Given the description of an element on the screen output the (x, y) to click on. 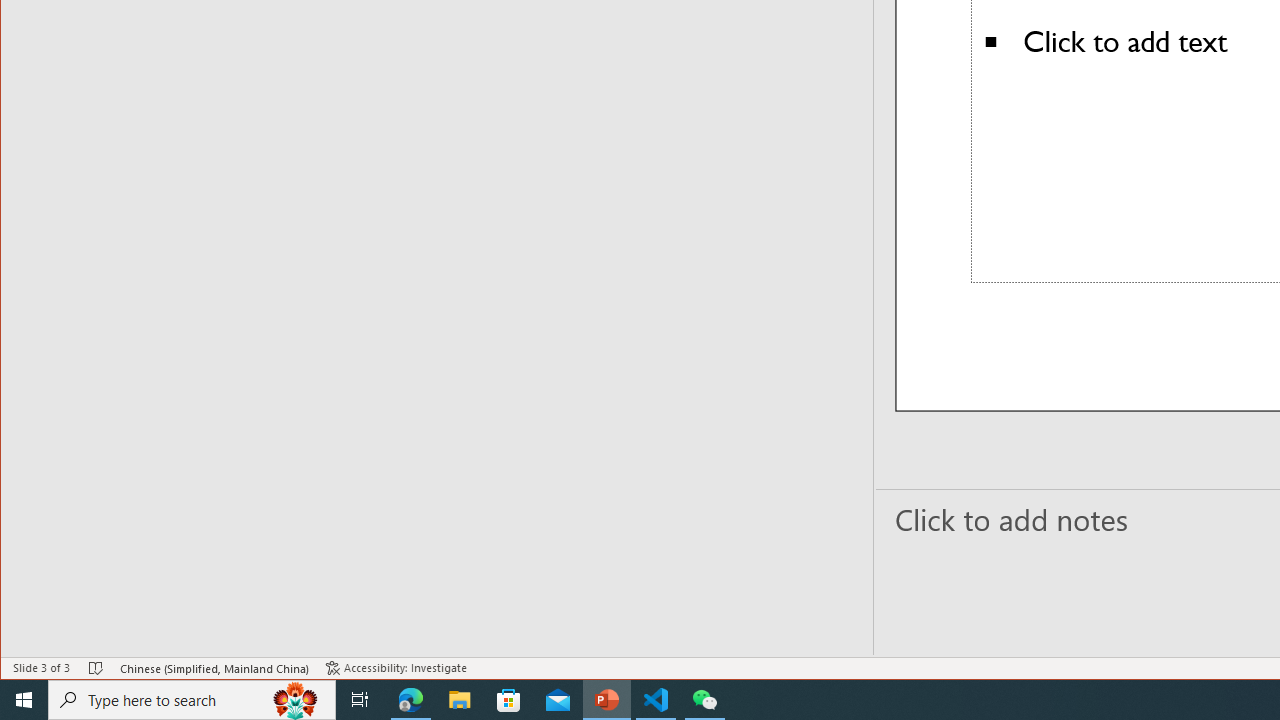
Microsoft Edge - 1 running window (411, 699)
WeChat - 1 running window (704, 699)
